Given the description of an element on the screen output the (x, y) to click on. 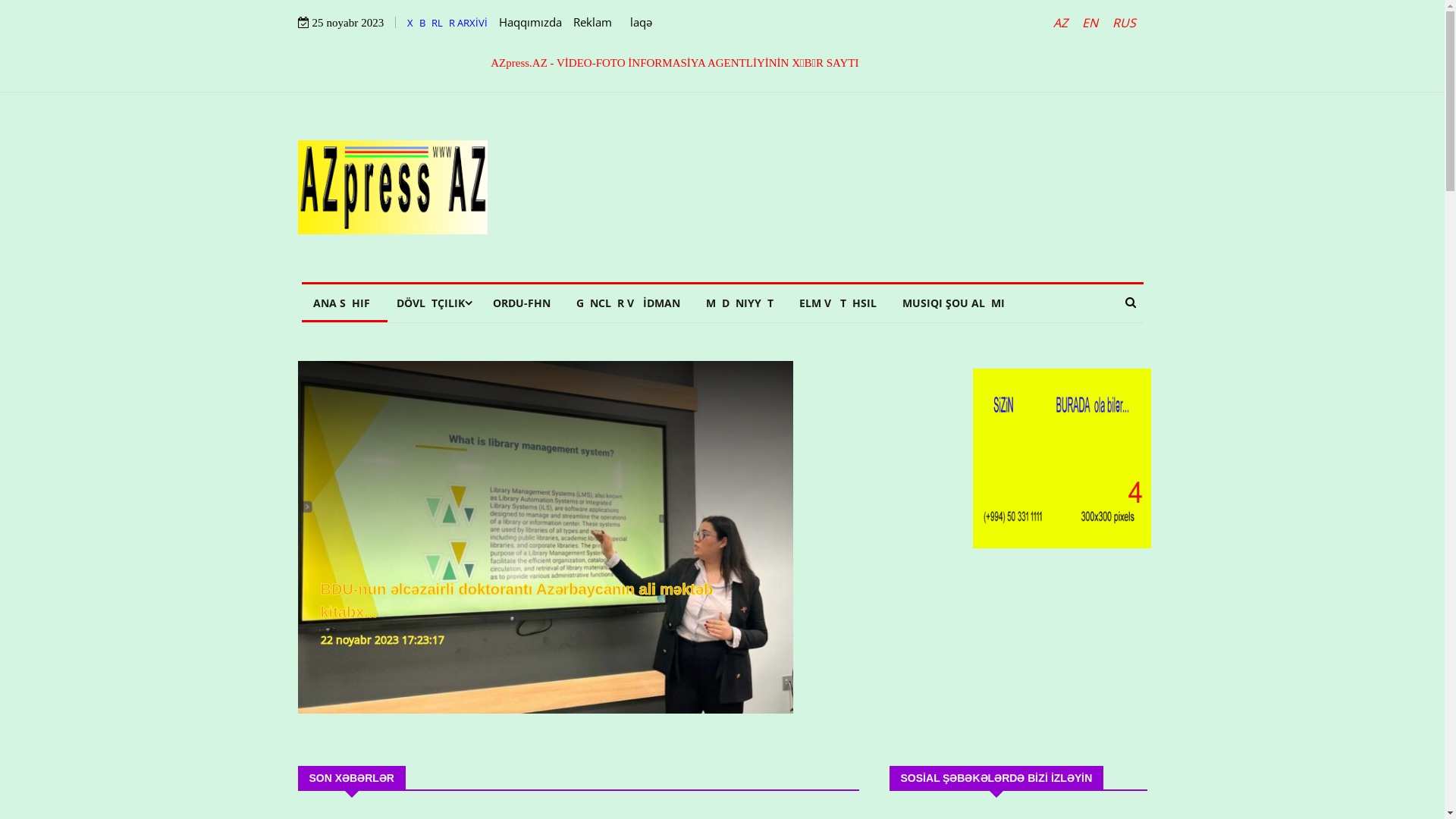
ORDU-FHN Element type: text (520, 303)
EN Element type: text (1090, 22)
Reklam Element type: text (592, 21)
RUS Element type: text (1123, 22)
AZ Element type: text (1061, 22)
